Given the description of an element on the screen output the (x, y) to click on. 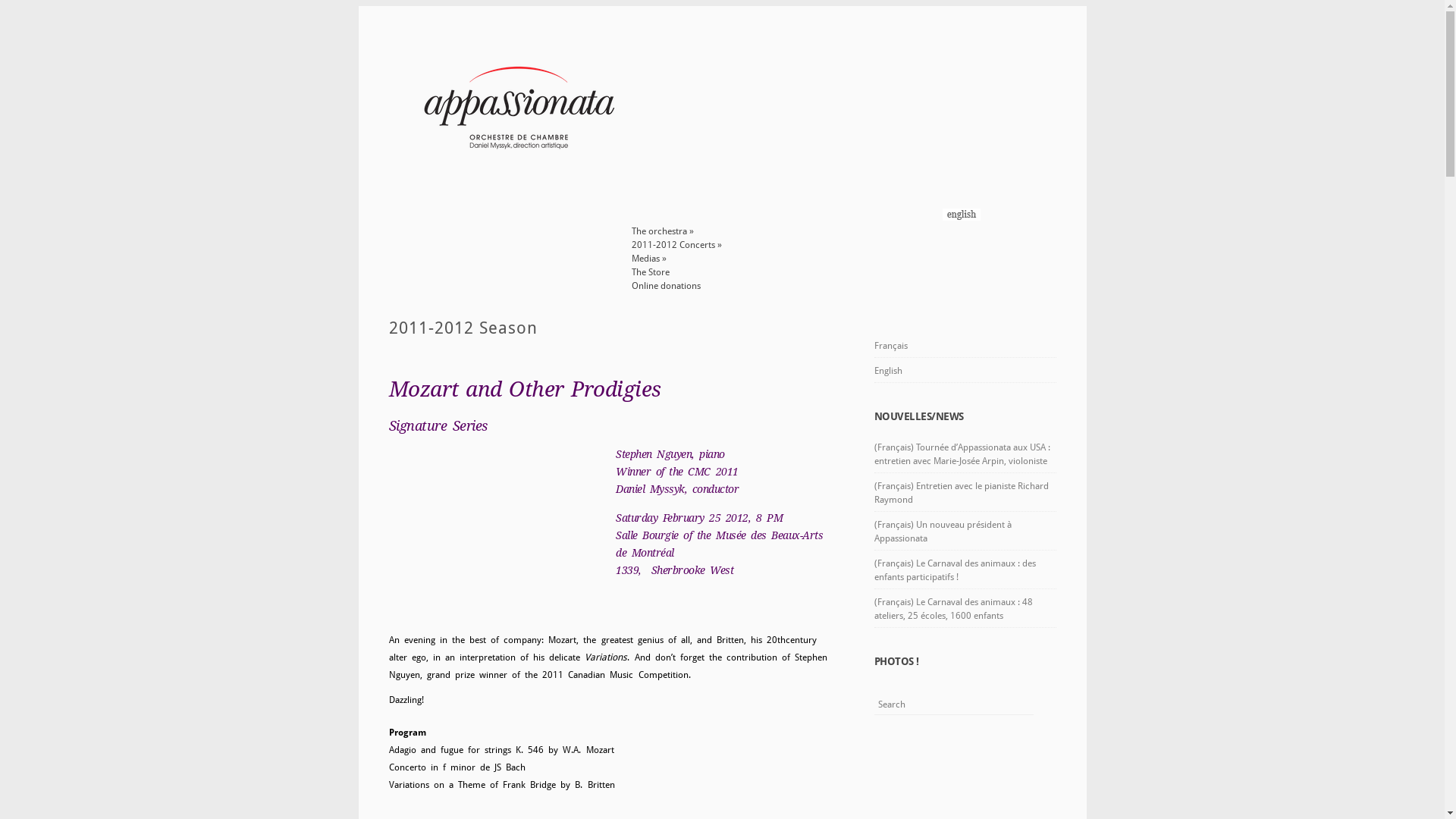
The Store Element type: text (649, 271)
English Element type: text (964, 369)
Online donations Element type: text (664, 285)
english Element type: hover (960, 217)
